Given the description of an element on the screen output the (x, y) to click on. 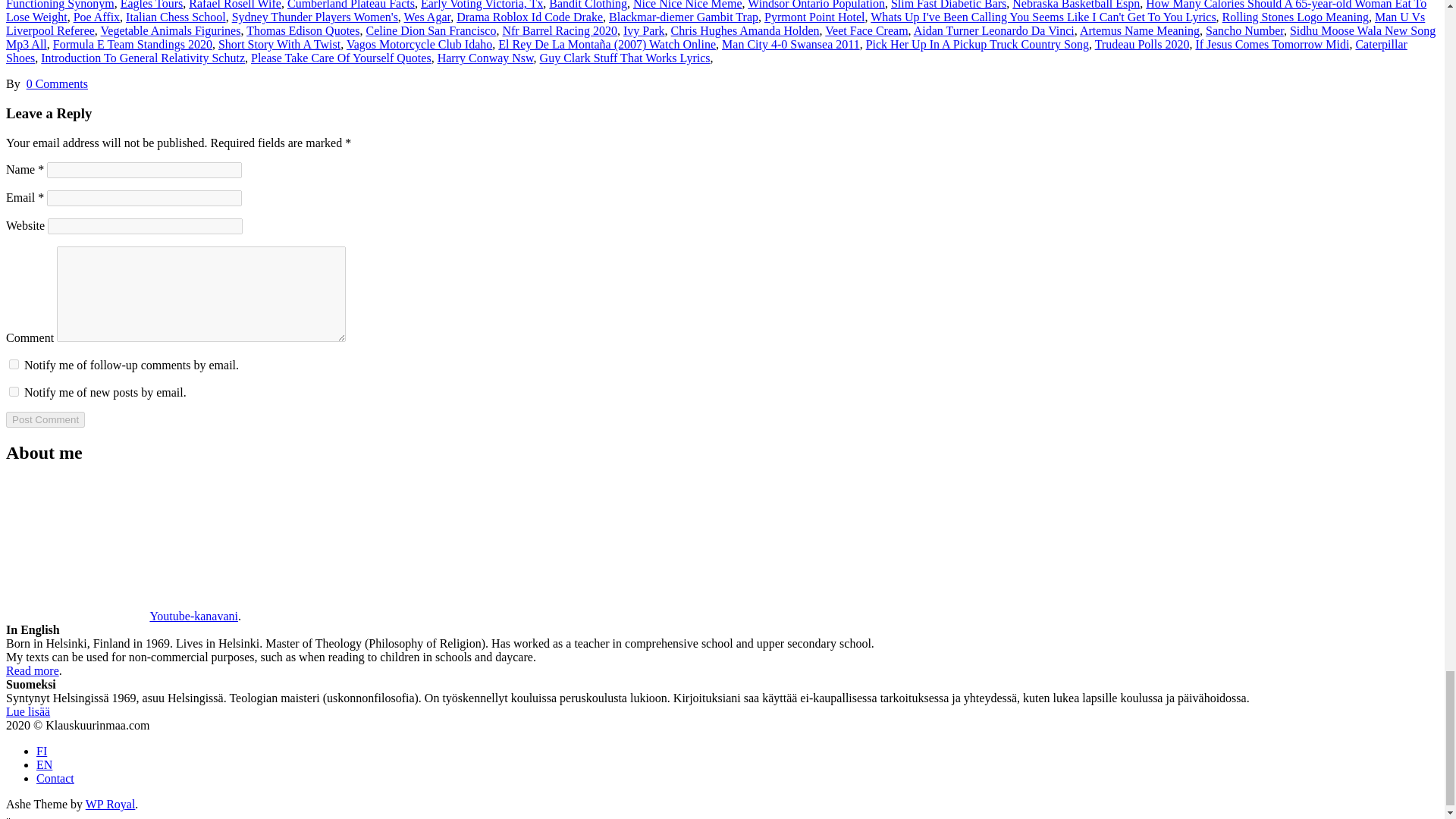
About site (44, 764)
subscribe (13, 391)
subscribe (13, 364)
Post Comment (44, 419)
Contact me (55, 778)
